Given the description of an element on the screen output the (x, y) to click on. 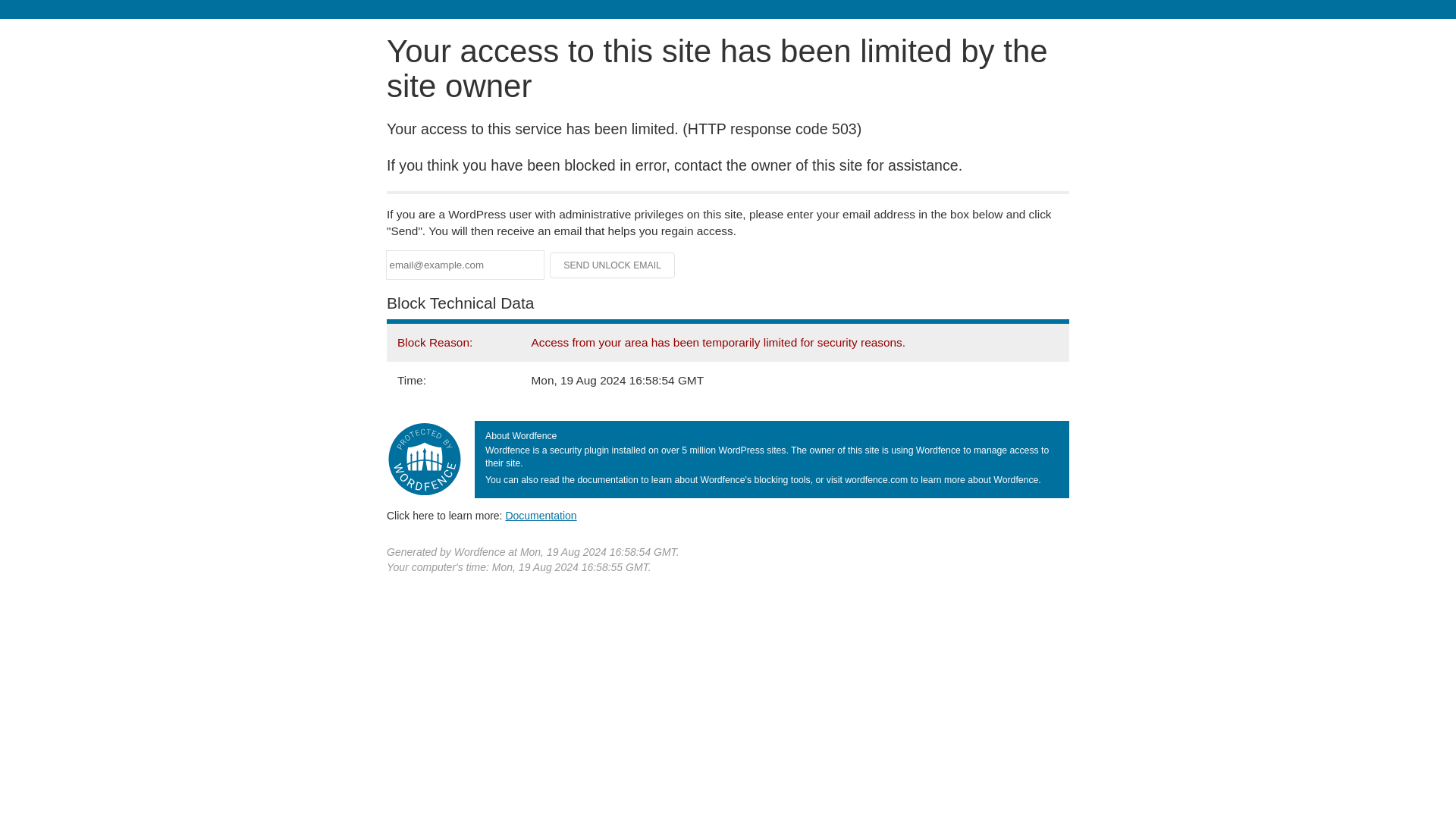
Send Unlock Email (612, 265)
Documentation (540, 515)
Send Unlock Email (612, 265)
